Given the description of an element on the screen output the (x, y) to click on. 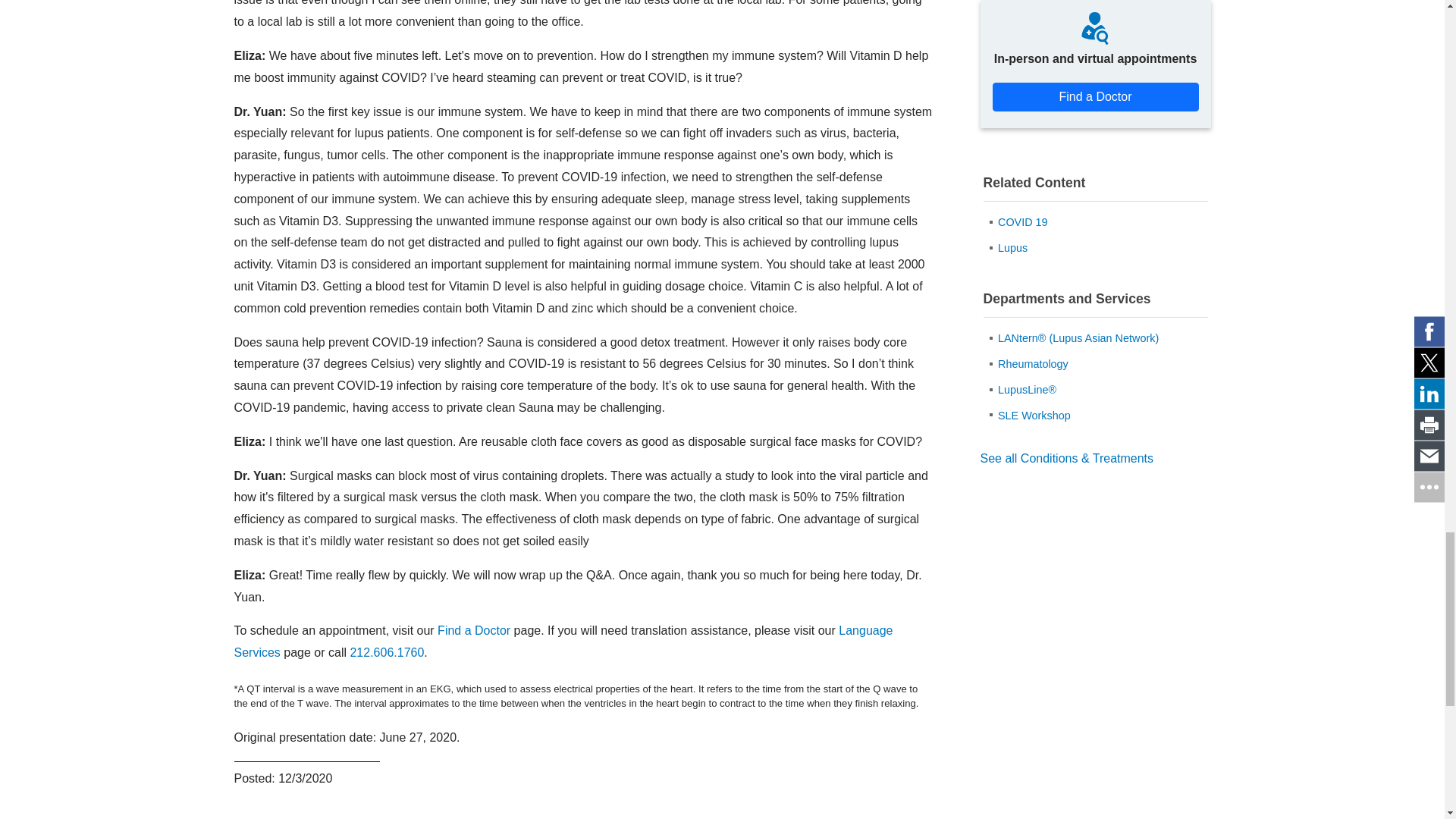
212.606.1760 (386, 652)
Find a Doctor (474, 630)
Language Services (562, 641)
